Given the description of an element on the screen output the (x, y) to click on. 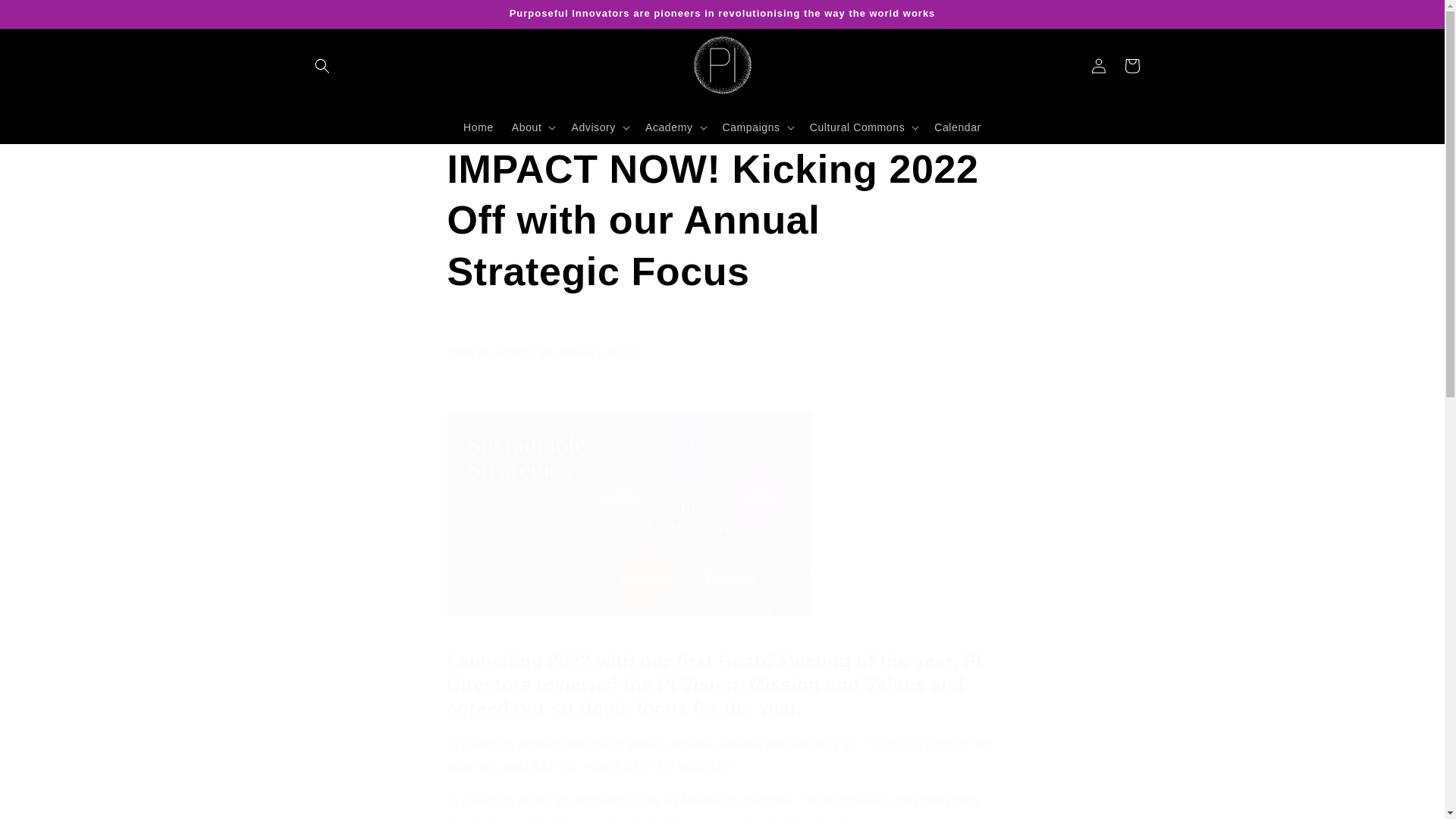
Skip to content (45, 17)
IMPACT NOW! Kicking 2022 Off with our Annual Strategic Focus (721, 221)
